Given the description of an element on the screen output the (x, y) to click on. 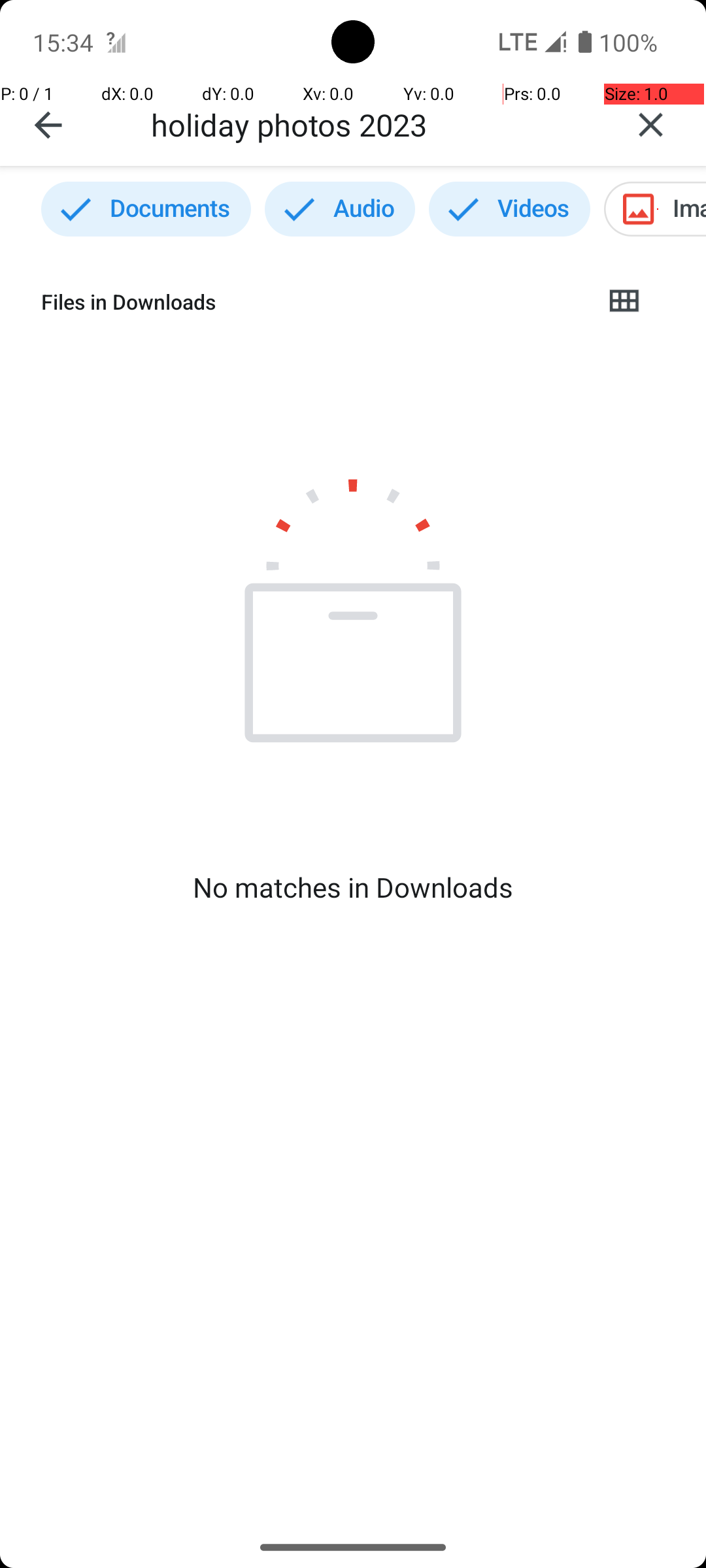
holiday photos 2023 Element type: android.widget.AutoCompleteTextView (373, 124)
